Given the description of an element on the screen output the (x, y) to click on. 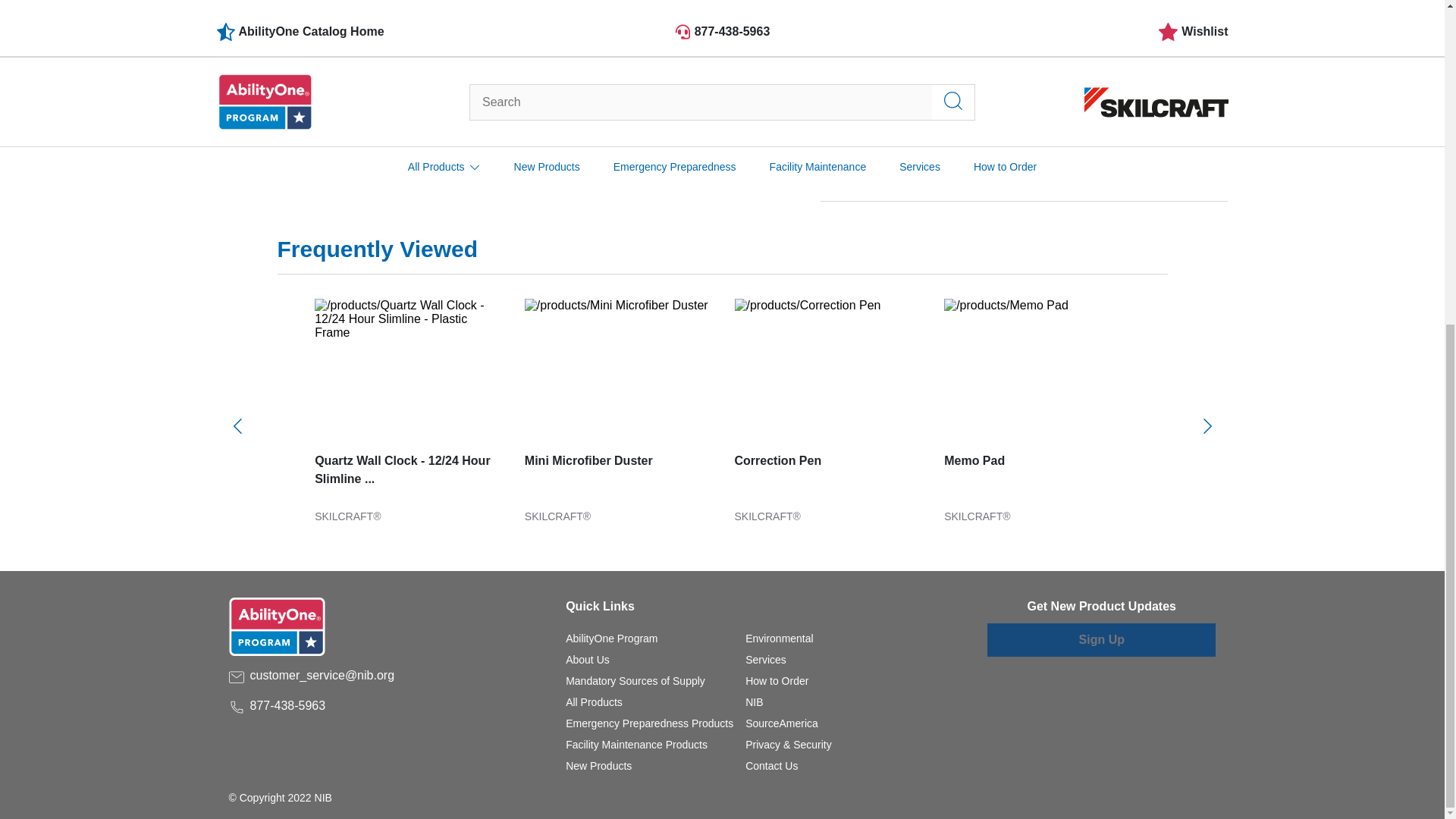
Emergency Preparedness Products (649, 723)
About Us (588, 659)
Facility Maintenance Products (636, 744)
All Products (594, 702)
AbilityOne Program (612, 638)
Mandatory Sources of Supply (635, 680)
